Given the description of an element on the screen output the (x, y) to click on. 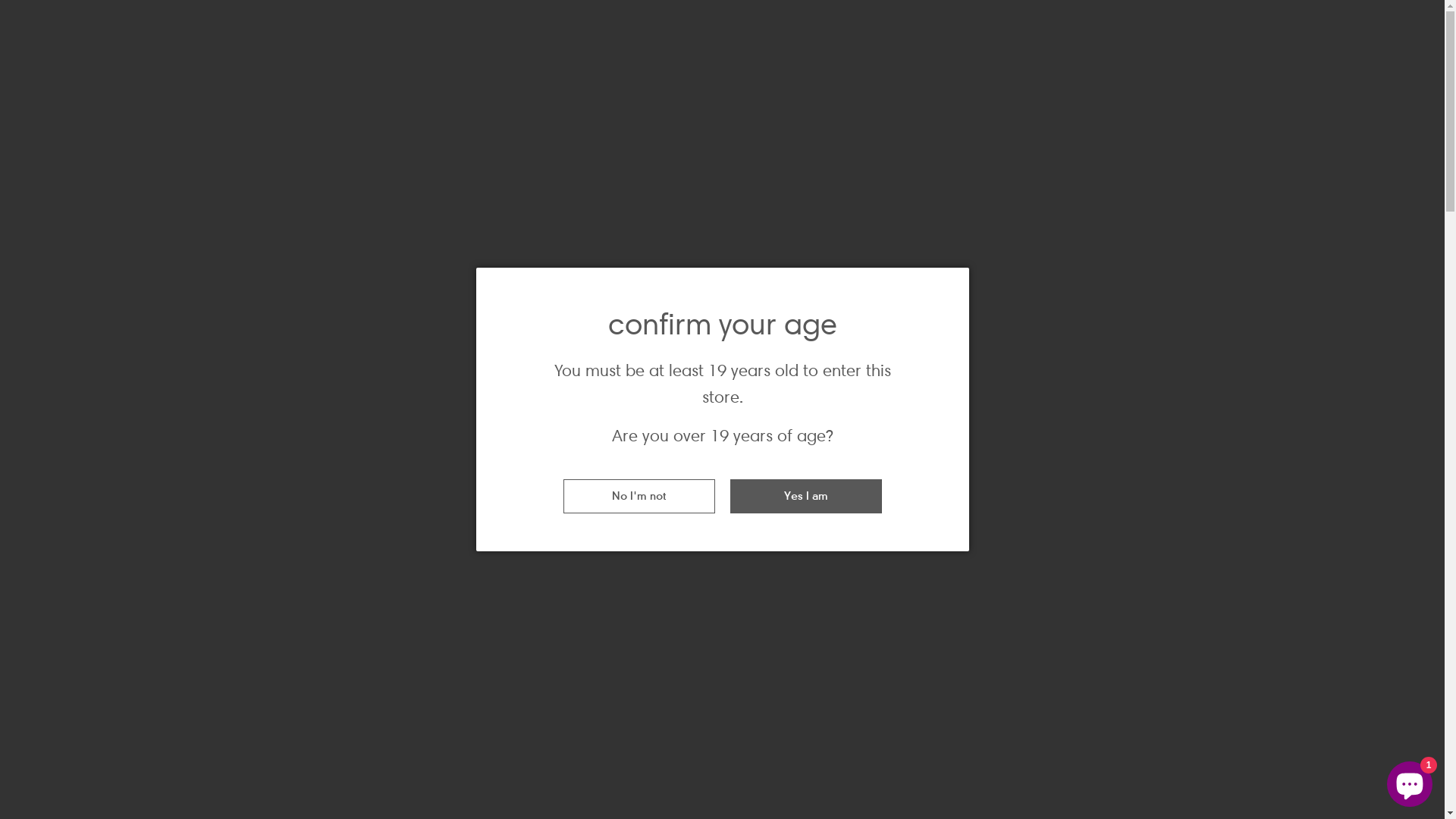
Add to cart Element type: text (973, 691)
Shipping Element type: text (837, 446)
facebook icon Element type: text (1262, 20)
WINE Element type: text (627, 268)
COCKTAILS Element type: text (473, 268)
SPIRITS Element type: text (701, 268)
Home Element type: text (315, 336)
SPIRITS Element type: text (353, 336)
tiktok icon Element type: text (1378, 20)
ABOUT US & FAQs Element type: text (1016, 268)
Search Element type: hover (1341, 144)
+ Element type: text (938, 628)
No I'm not Element type: text (638, 496)
HOME Element type: text (378, 268)
BEER Element type: text (563, 268)
Shopify online store chat Element type: hover (1409, 780)
pinterest icon Element type: text (1407, 20)
Log in Element type: hover (1375, 144)
More payment options Element type: text (973, 795)
0 Element type: text (1408, 144)
PRINTS Element type: text (889, 268)
SPECIALTY Element type: text (795, 268)
youtube icon Element type: text (1349, 20)
instagram icon Element type: text (1320, 20)
twitter icon Element type: text (1291, 20)
- Element type: text (824, 628)
Yes I am Element type: text (805, 496)
